Given the description of an element on the screen output the (x, y) to click on. 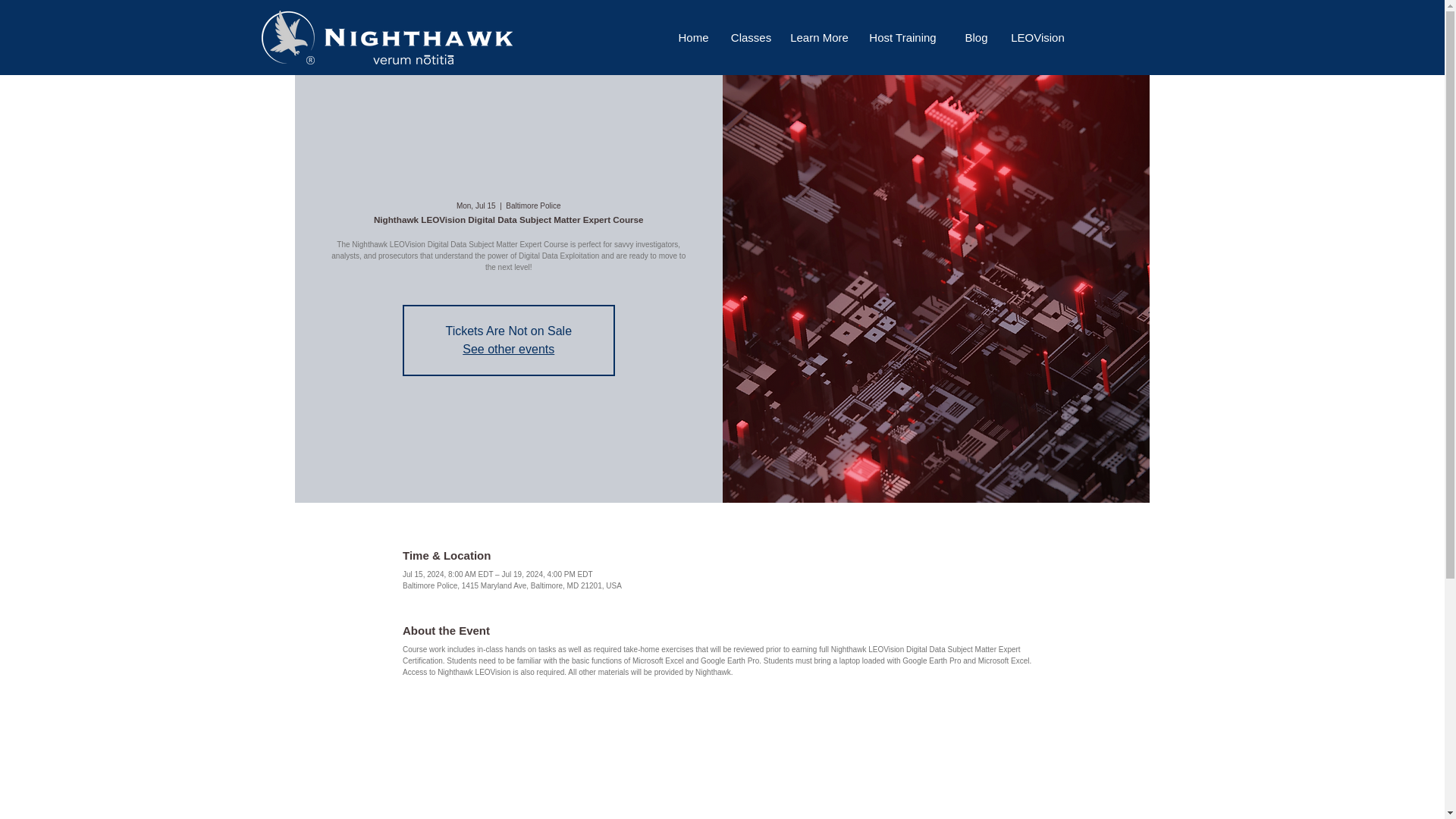
See other events (508, 349)
Classes (751, 37)
LEOVision (1037, 37)
Blog (976, 37)
Truth from data (413, 59)
Home (692, 37)
Host Training (902, 37)
Learn More (818, 37)
